Given the description of an element on the screen output the (x, y) to click on. 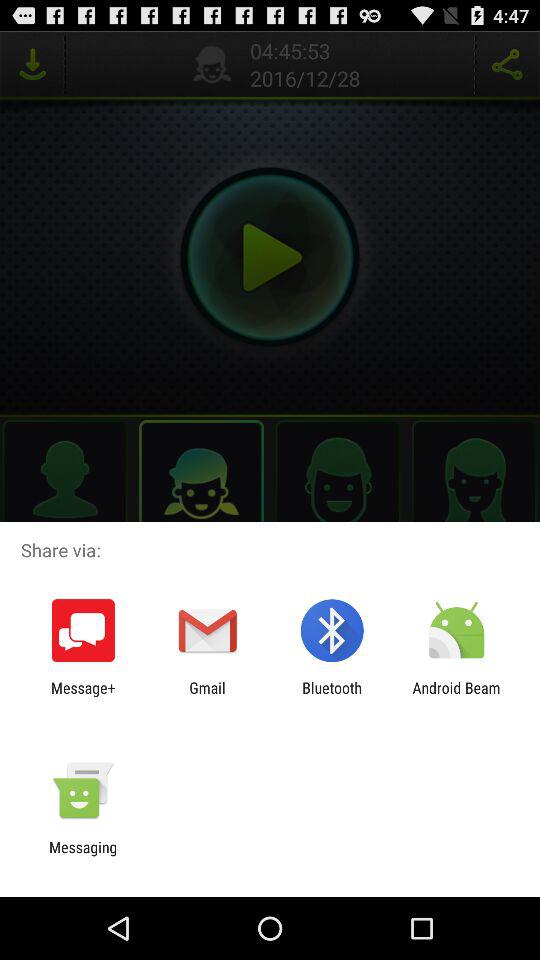
select app to the left of gmail (83, 696)
